Given the description of an element on the screen output the (x, y) to click on. 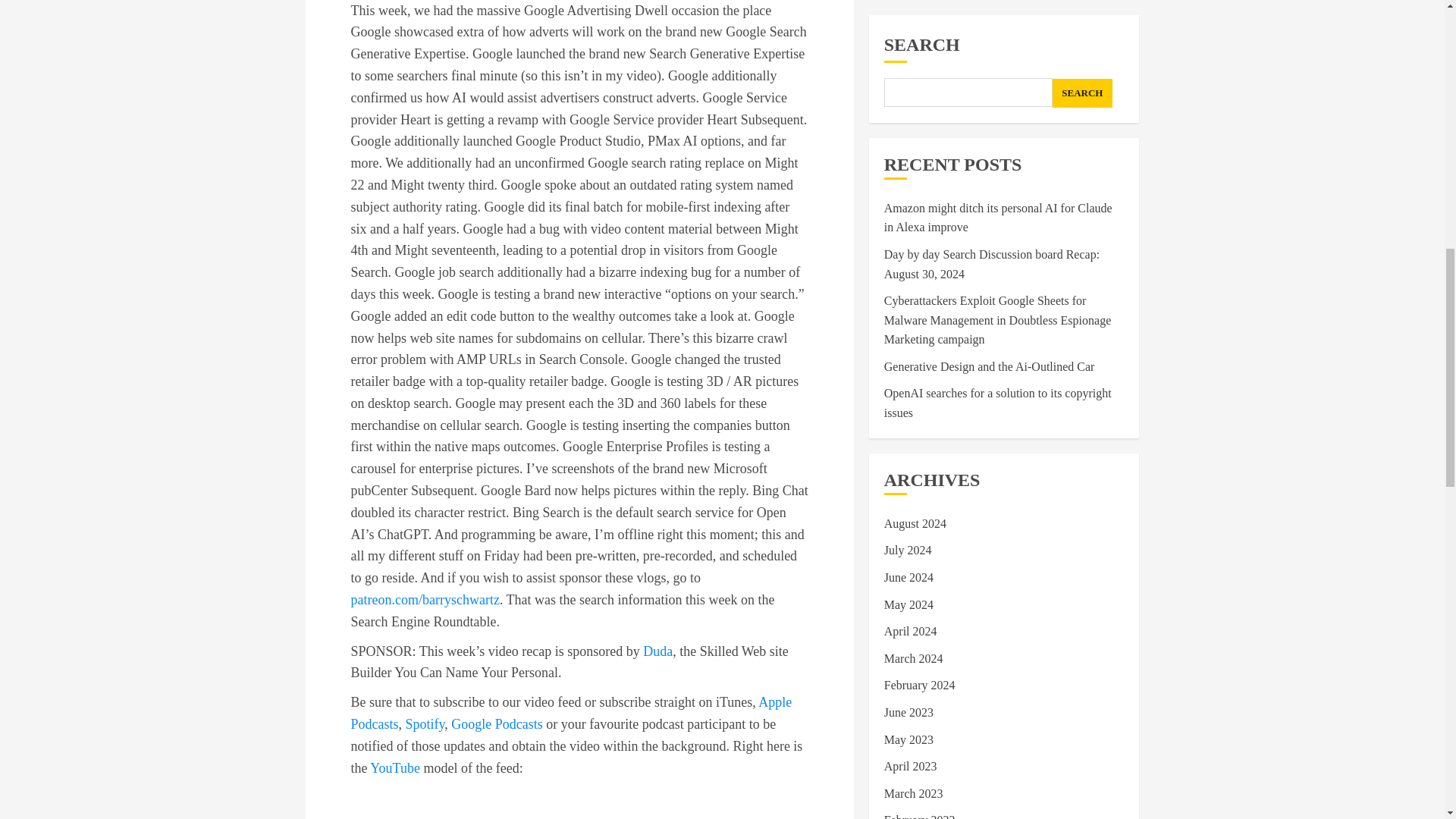
YouTube (394, 767)
Apple Podcasts (571, 713)
Google Podcasts (497, 724)
Spotify (424, 724)
Duda (657, 651)
